Given the description of an element on the screen output the (x, y) to click on. 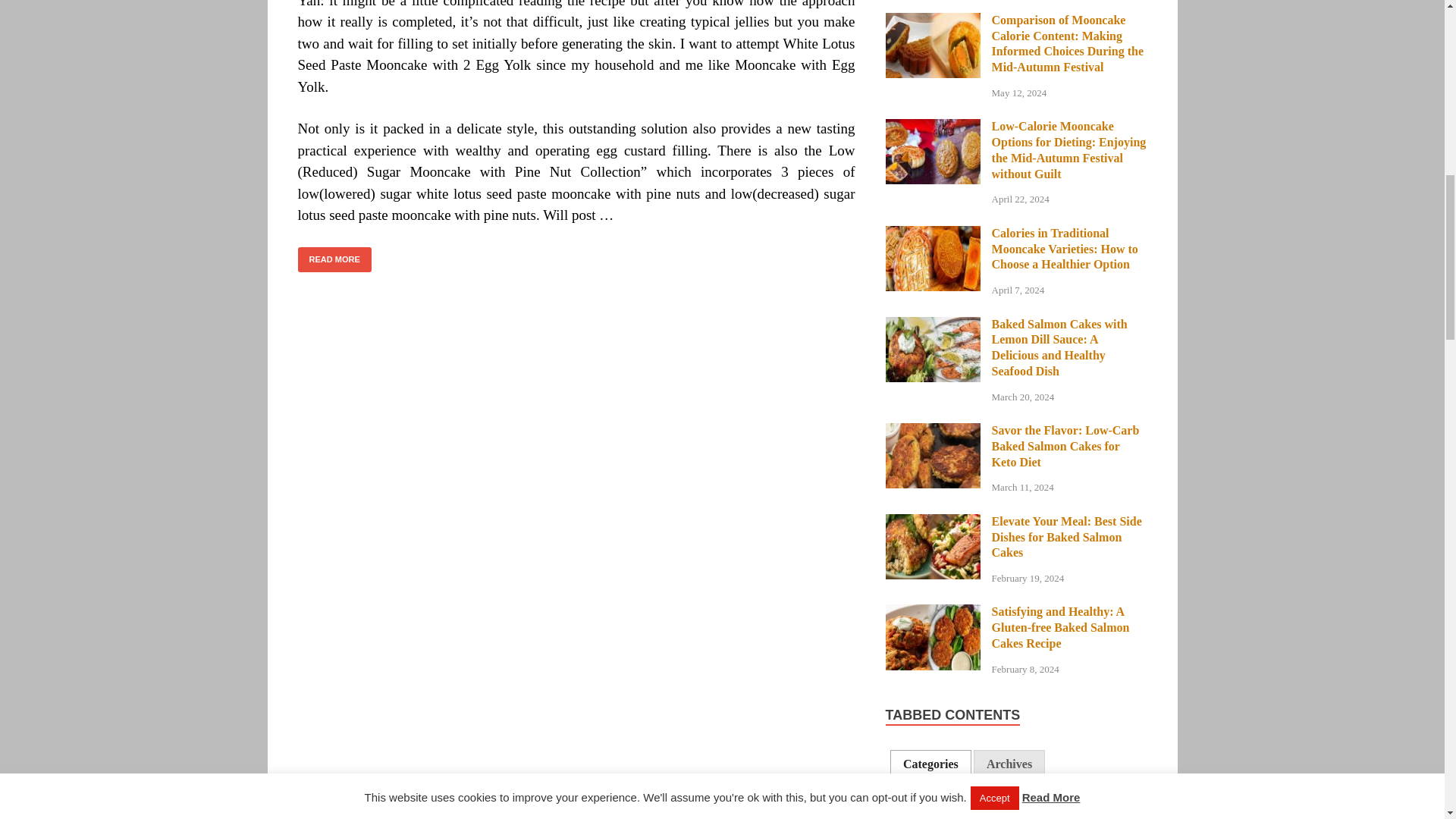
Elevate Your Meal: Best Side Dishes for Baked Salmon Cakes (932, 522)
Savor the Flavor: Low-Carb Baked Salmon Cakes for Keto Diet (932, 431)
